Given the description of an element on the screen output the (x, y) to click on. 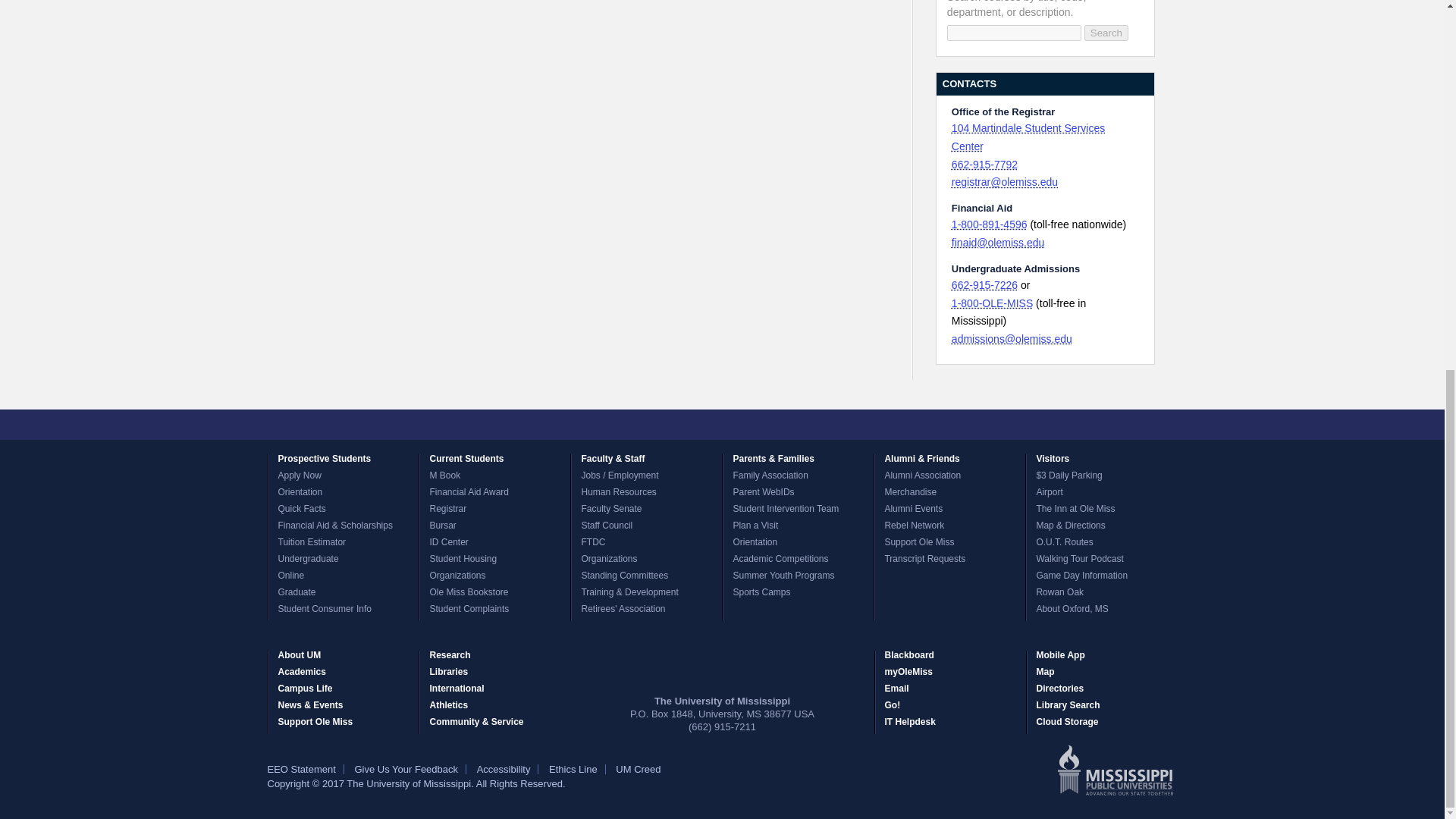
Twitter (654, 424)
Instagram (708, 424)
Facebook (627, 424)
Pinterest (790, 424)
Flickr (735, 424)
Search (1106, 32)
News Feed (818, 424)
Youtube (763, 424)
